Given the description of an element on the screen output the (x, y) to click on. 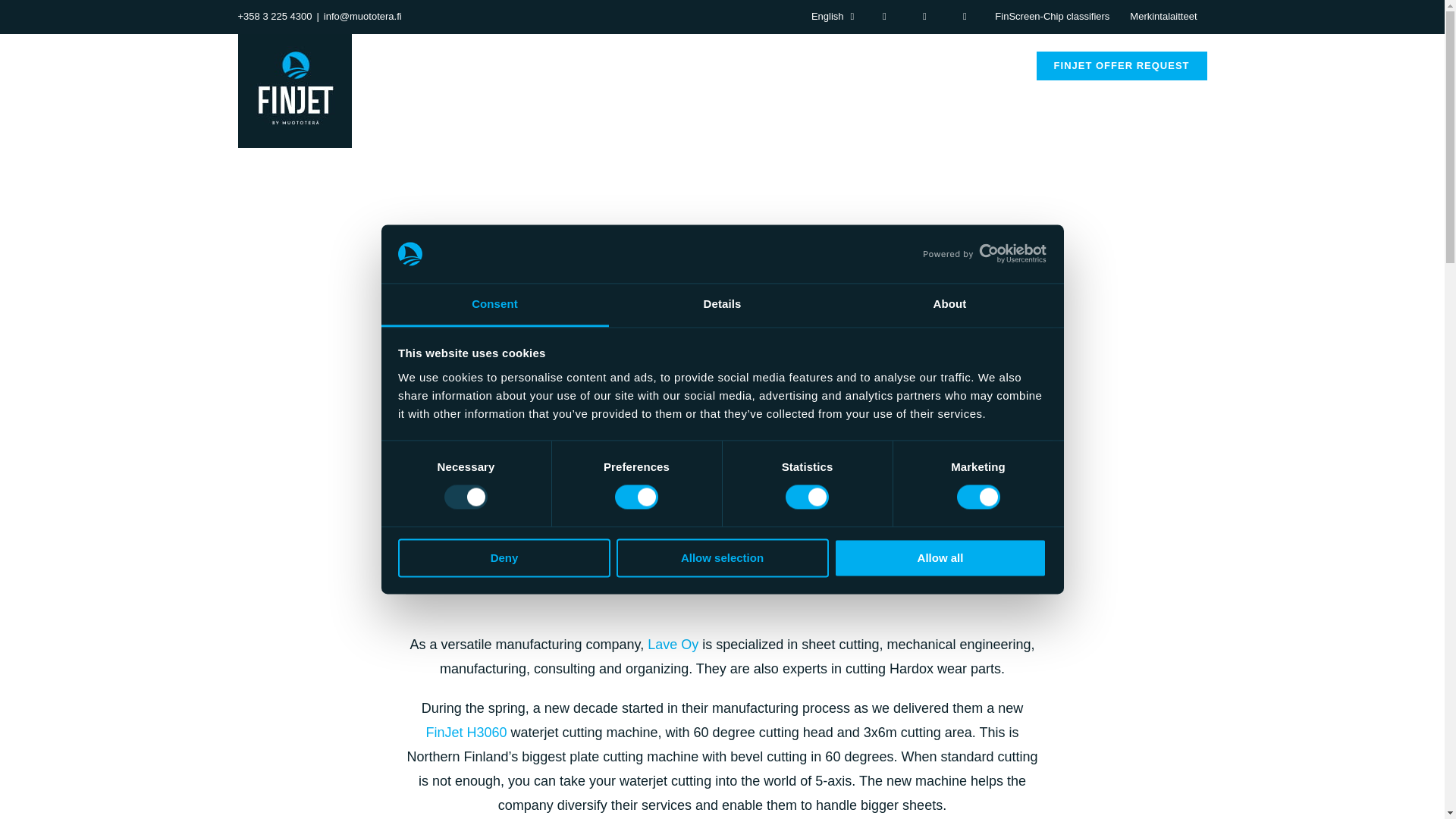
Allow all (940, 557)
Details (721, 304)
Allow selection (721, 557)
About (948, 304)
Deny (503, 557)
Consent (494, 304)
